Given the description of an element on the screen output the (x, y) to click on. 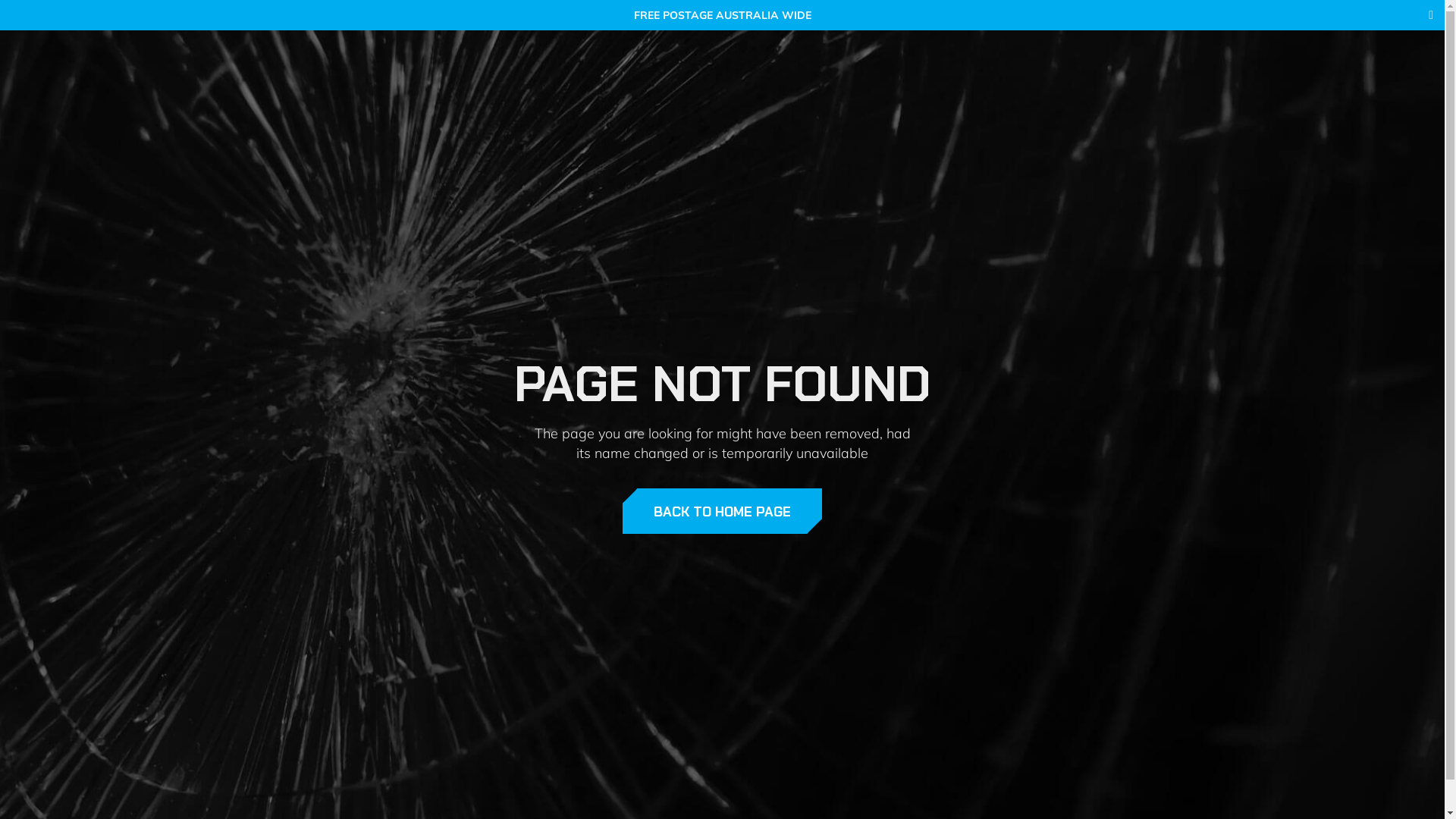
BACK TO HOME PAGE Element type: text (722, 510)
